Given the description of an element on the screen output the (x, y) to click on. 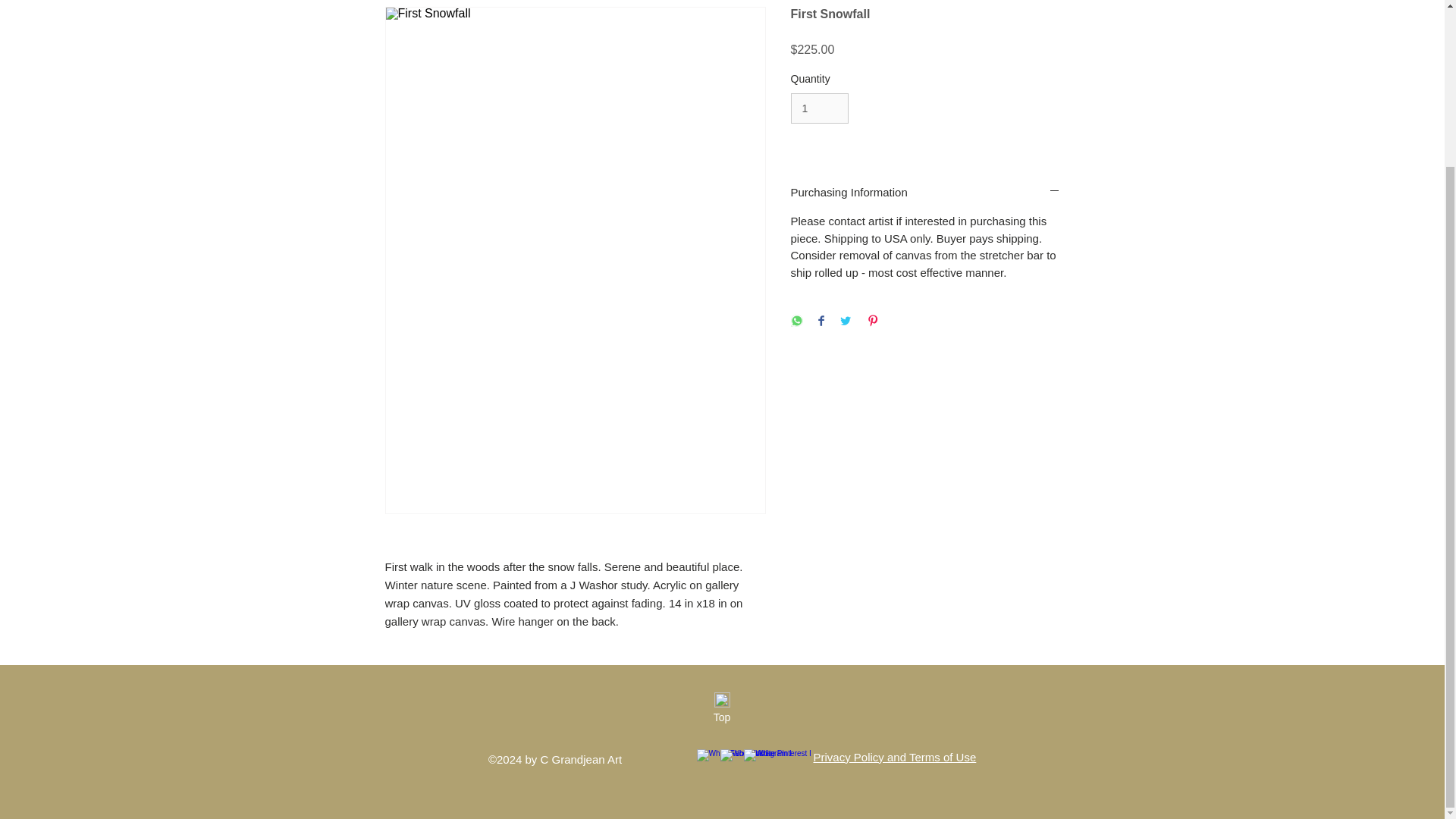
Privacy Policy and Terms of Use (893, 757)
Purchasing Information (924, 191)
1 (818, 108)
Top (721, 717)
